Given the description of an element on the screen output the (x, y) to click on. 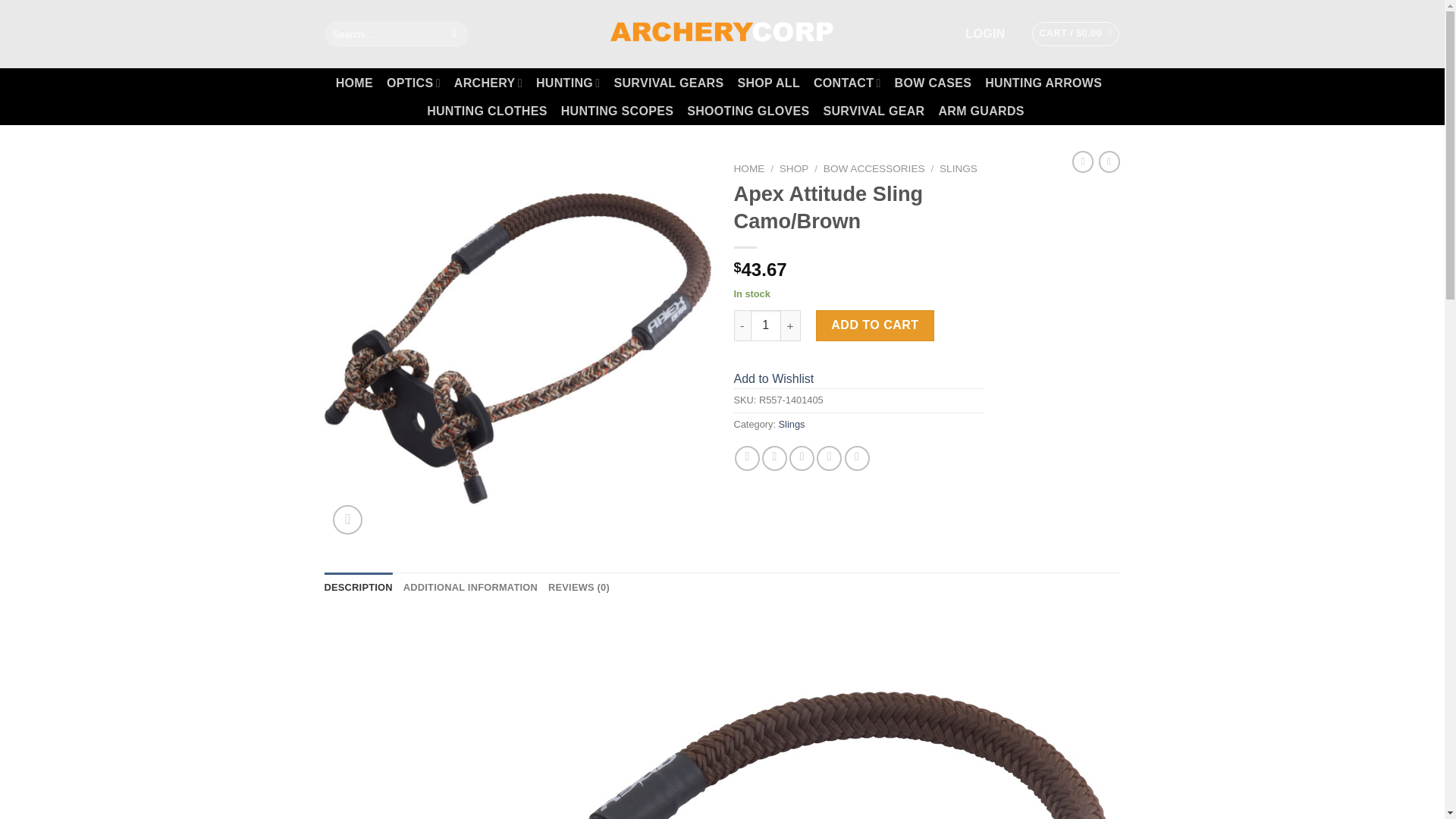
Cart (1075, 33)
HOME (354, 83)
Zoom (347, 519)
LOGIN (984, 33)
Pin on Pinterest (828, 457)
Qty (765, 325)
Archery Corp - Gear Up for New Adventure! (722, 33)
Share on Twitter (774, 457)
Email to a Friend (801, 457)
1 (765, 325)
Share on LinkedIn (856, 457)
ARCHERY (488, 82)
HUNTING (567, 82)
Search (454, 33)
